Given the description of an element on the screen output the (x, y) to click on. 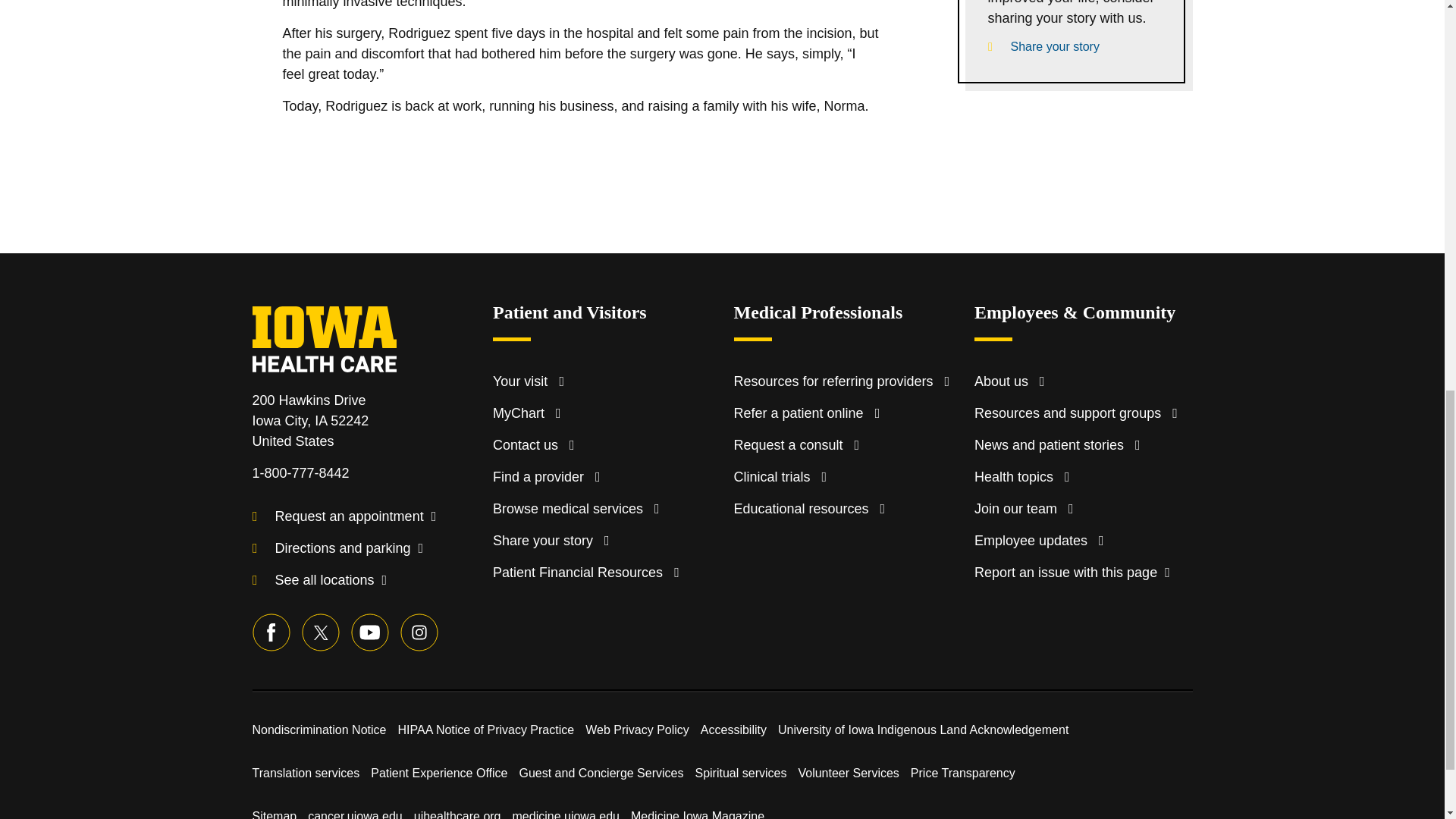
Home (338, 327)
